Given the description of an element on the screen output the (x, y) to click on. 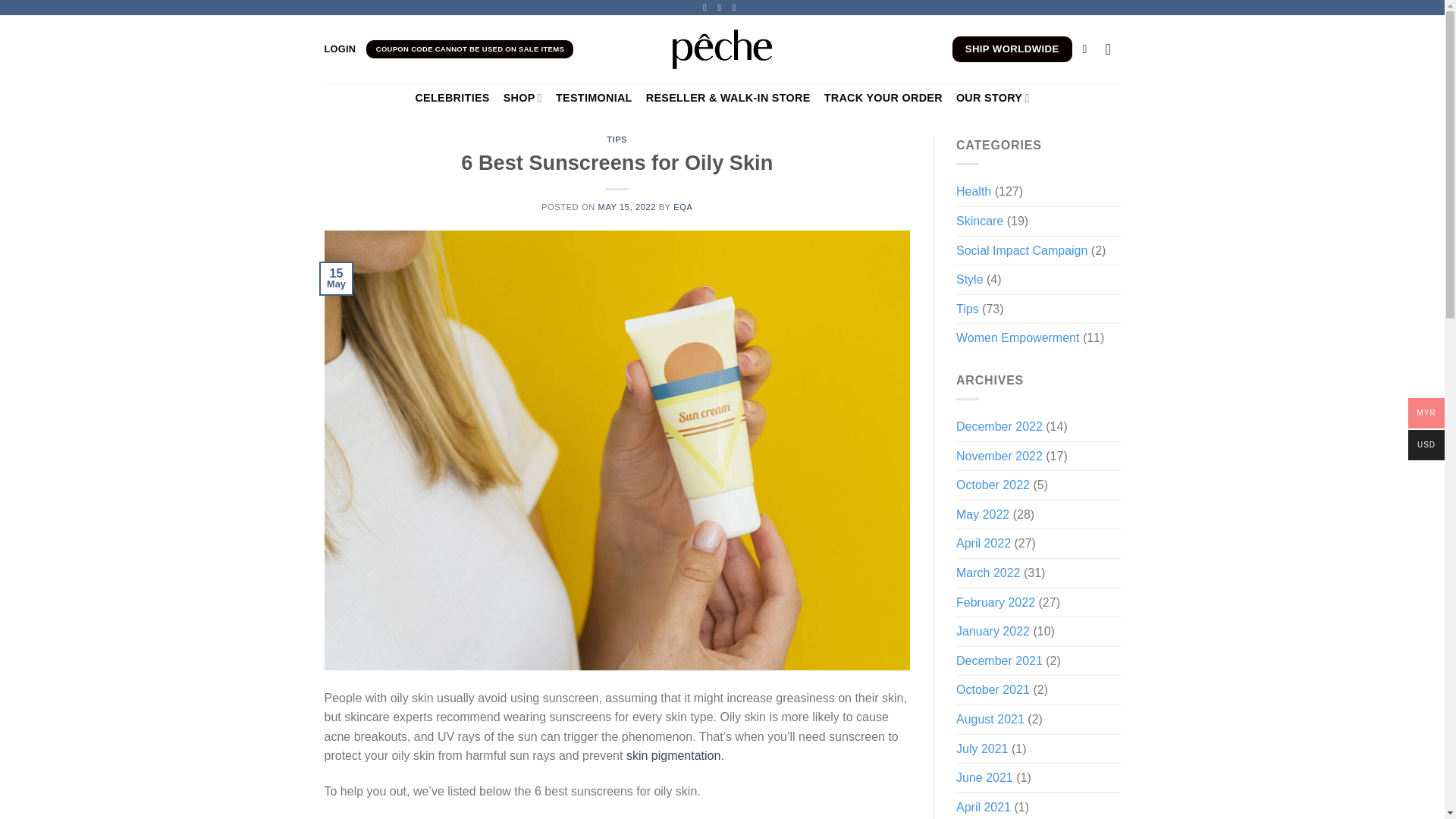
SHOP (522, 98)
SHIP WORLDWIDE (1011, 49)
PECHE - Empowering The Love Within Yourself (721, 48)
OUR STORY (992, 98)
LOGIN (340, 49)
CELEBRITIES (451, 98)
TRACK YOUR ORDER (883, 98)
MAY 15, 2022 (626, 206)
TESTIMONIAL (593, 98)
skin pigmentation (673, 755)
